Given the description of an element on the screen output the (x, y) to click on. 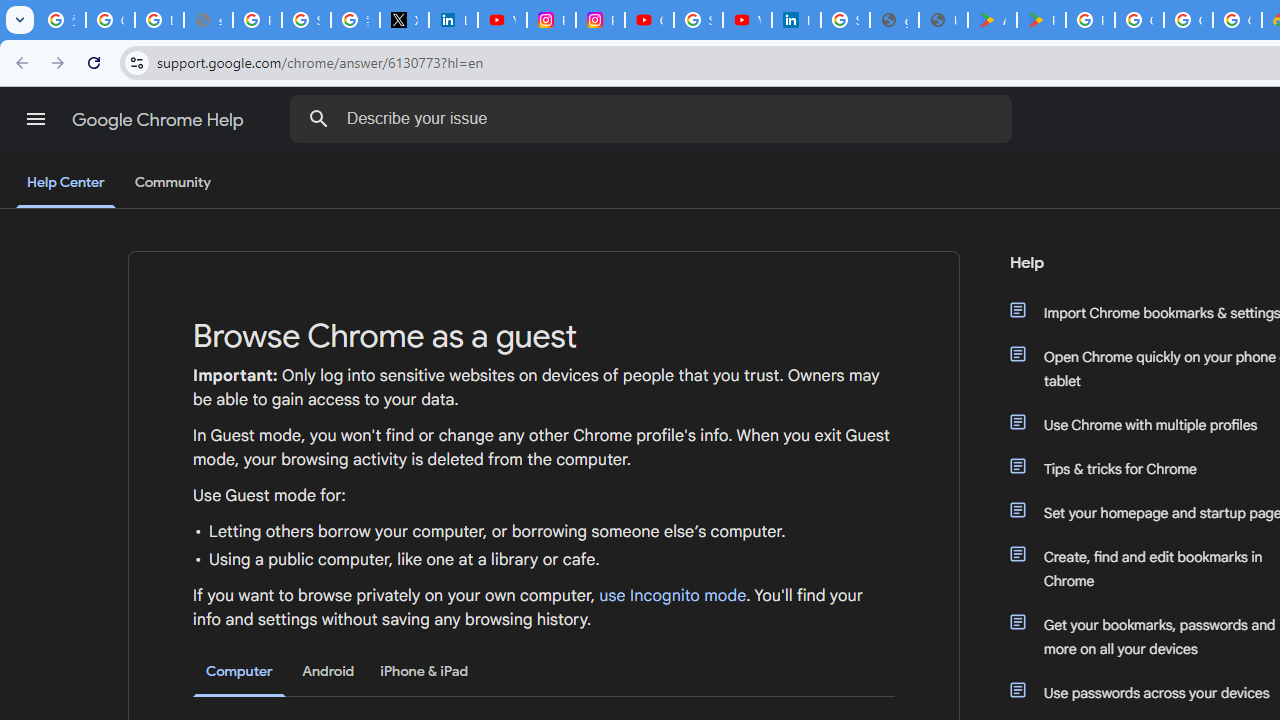
Search Help Center (318, 118)
Google Chrome Help (159, 119)
iPhone & iPad (424, 671)
use Incognito mode (673, 596)
Community (171, 183)
Android Apps on Google Play (992, 20)
support.google.com - Network error (208, 20)
